Given the description of an element on the screen output the (x, y) to click on. 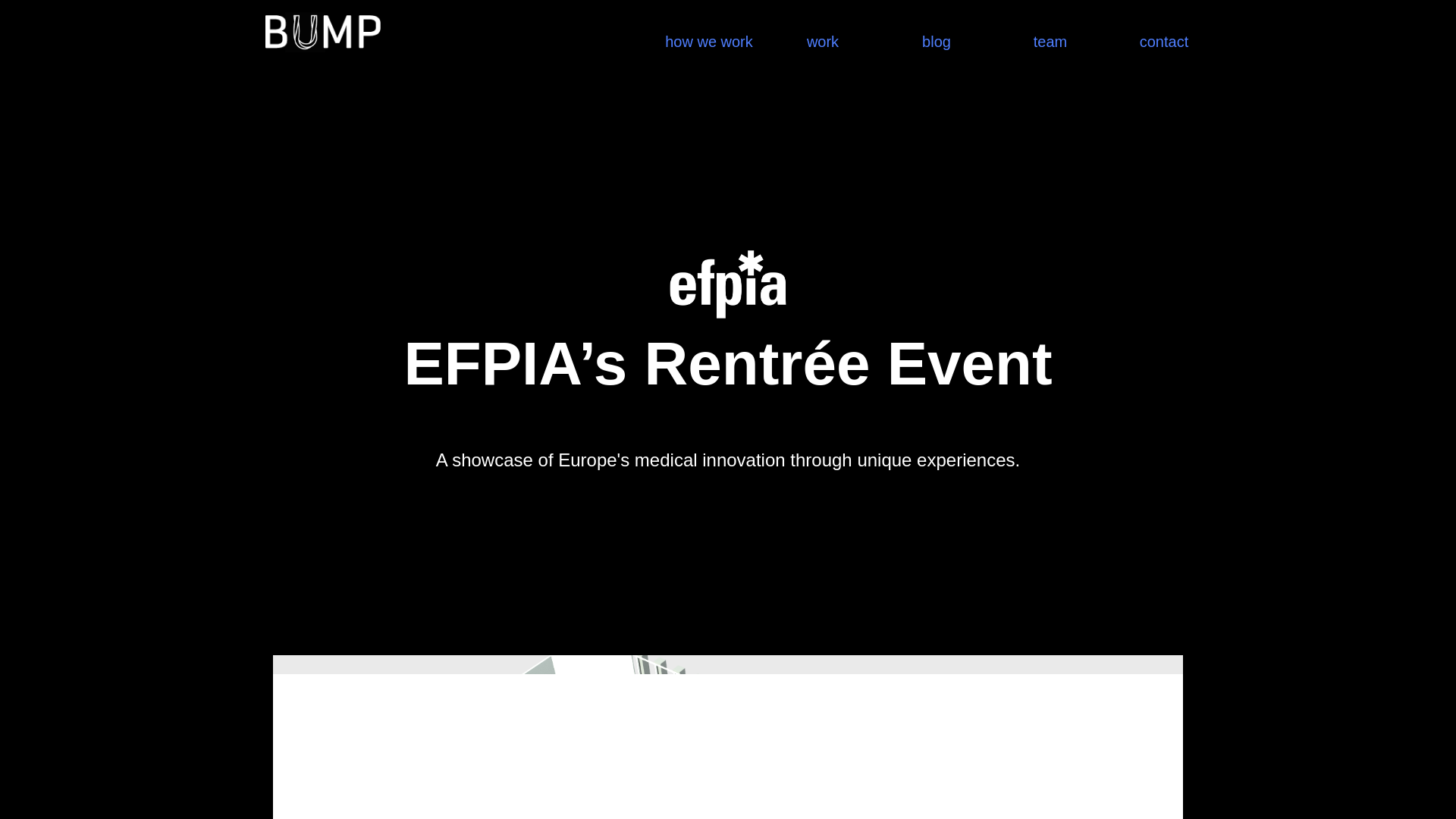
how we work (708, 28)
contact (1163, 28)
team (1049, 28)
blog (935, 28)
work (822, 28)
